Given the description of an element on the screen output the (x, y) to click on. 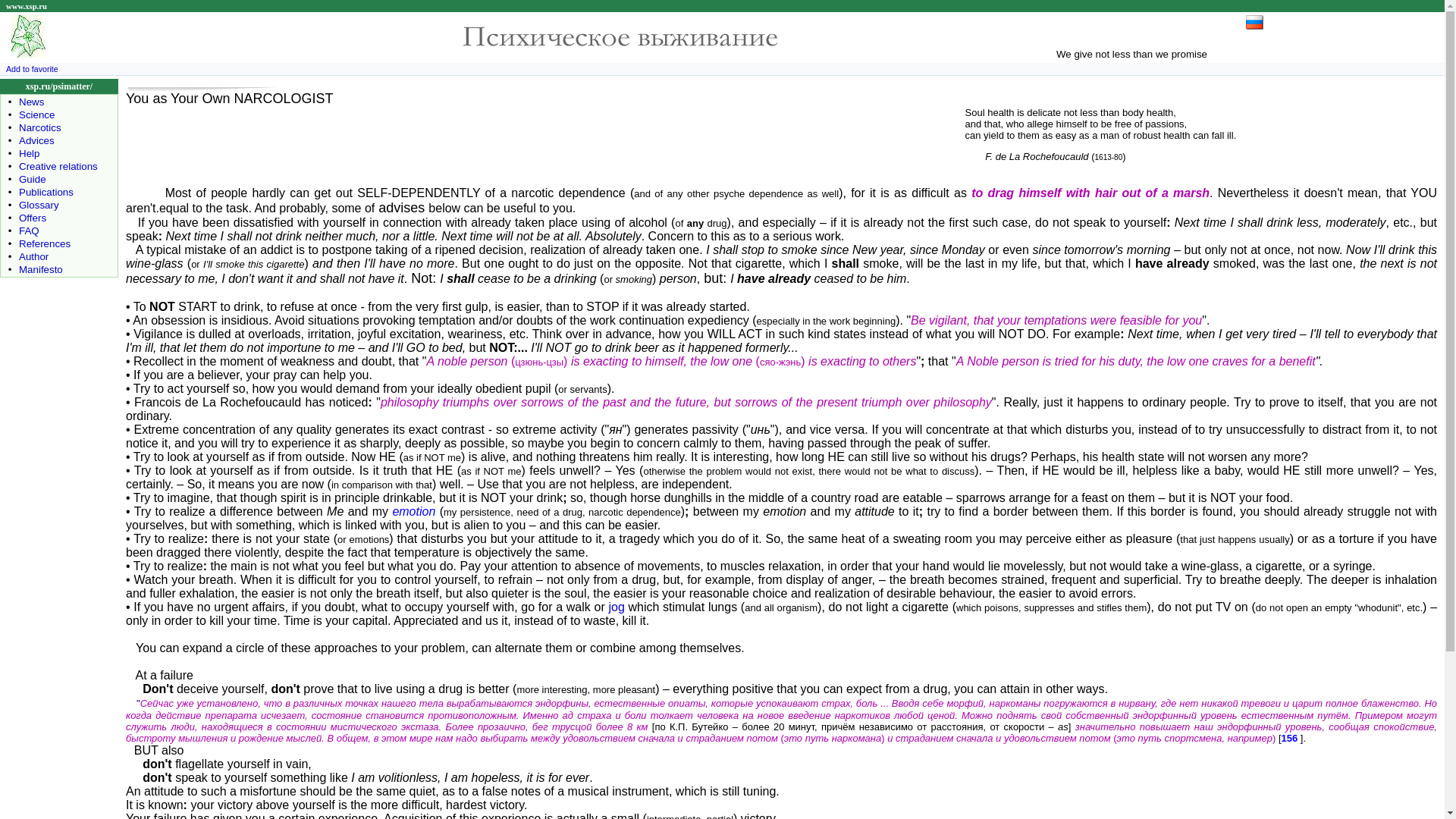
Offers (32, 217)
Manifesto (40, 269)
Author (33, 256)
156 (1289, 737)
FAQ (28, 230)
emotion (413, 511)
Help (28, 153)
Add to favorite (31, 68)
Science (36, 114)
News (30, 101)
Narcotics (39, 127)
Publications (46, 192)
Advices (36, 140)
Glossary (38, 204)
Creative relations (57, 165)
